Given the description of an element on the screen output the (x, y) to click on. 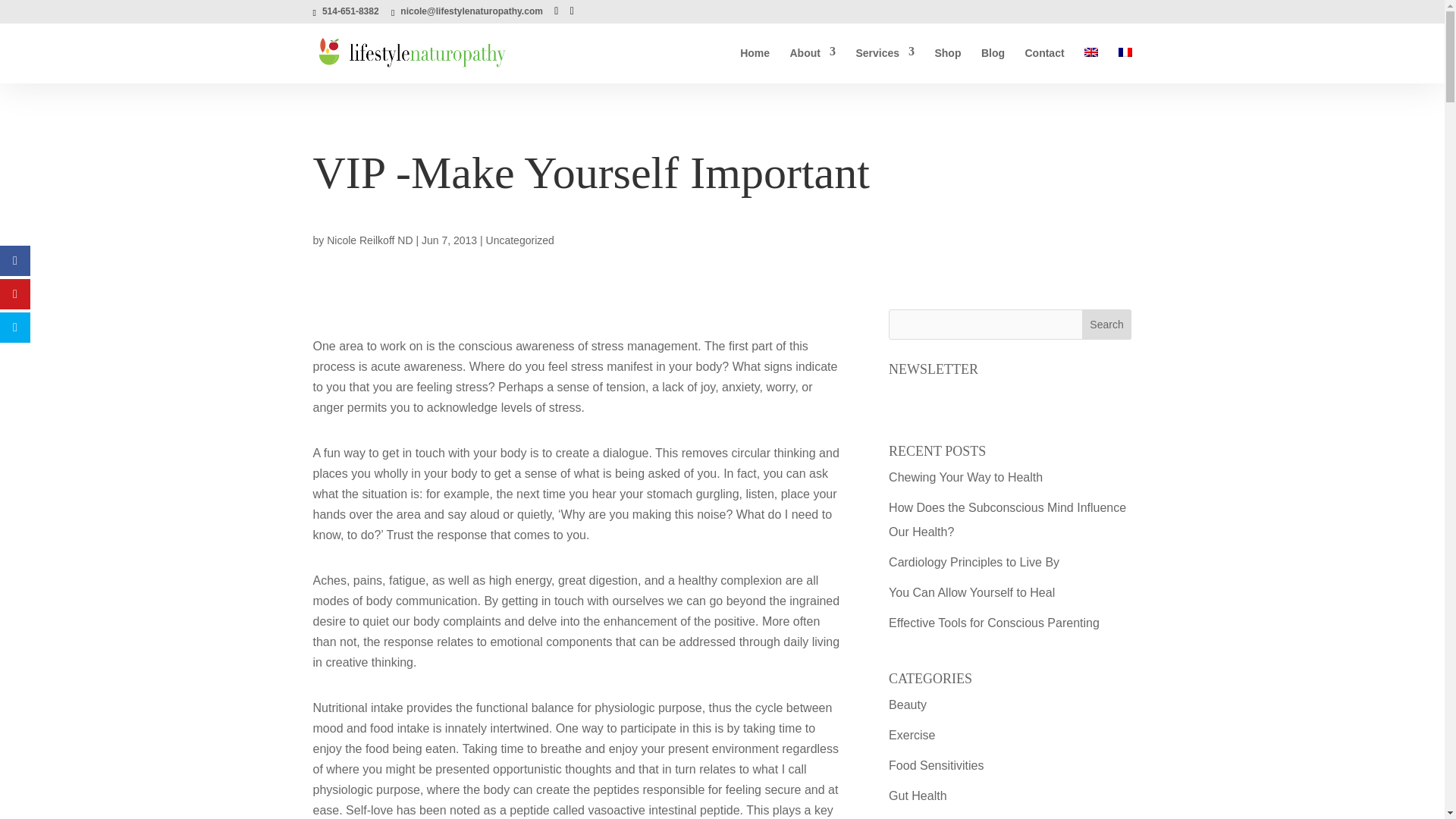
Nicole Reilkoff ND (369, 240)
Uncategorized (520, 240)
Services (885, 65)
Exercise (911, 735)
Cardiology Principles to Live By (973, 562)
How Does the Subconscious Mind Influence Our Health? (1006, 519)
Food Sensitivities (936, 765)
Gut Health (917, 795)
Effective Tools for Conscious Parenting (993, 622)
Chewing Your Way to Health (965, 477)
